Given the description of an element on the screen output the (x, y) to click on. 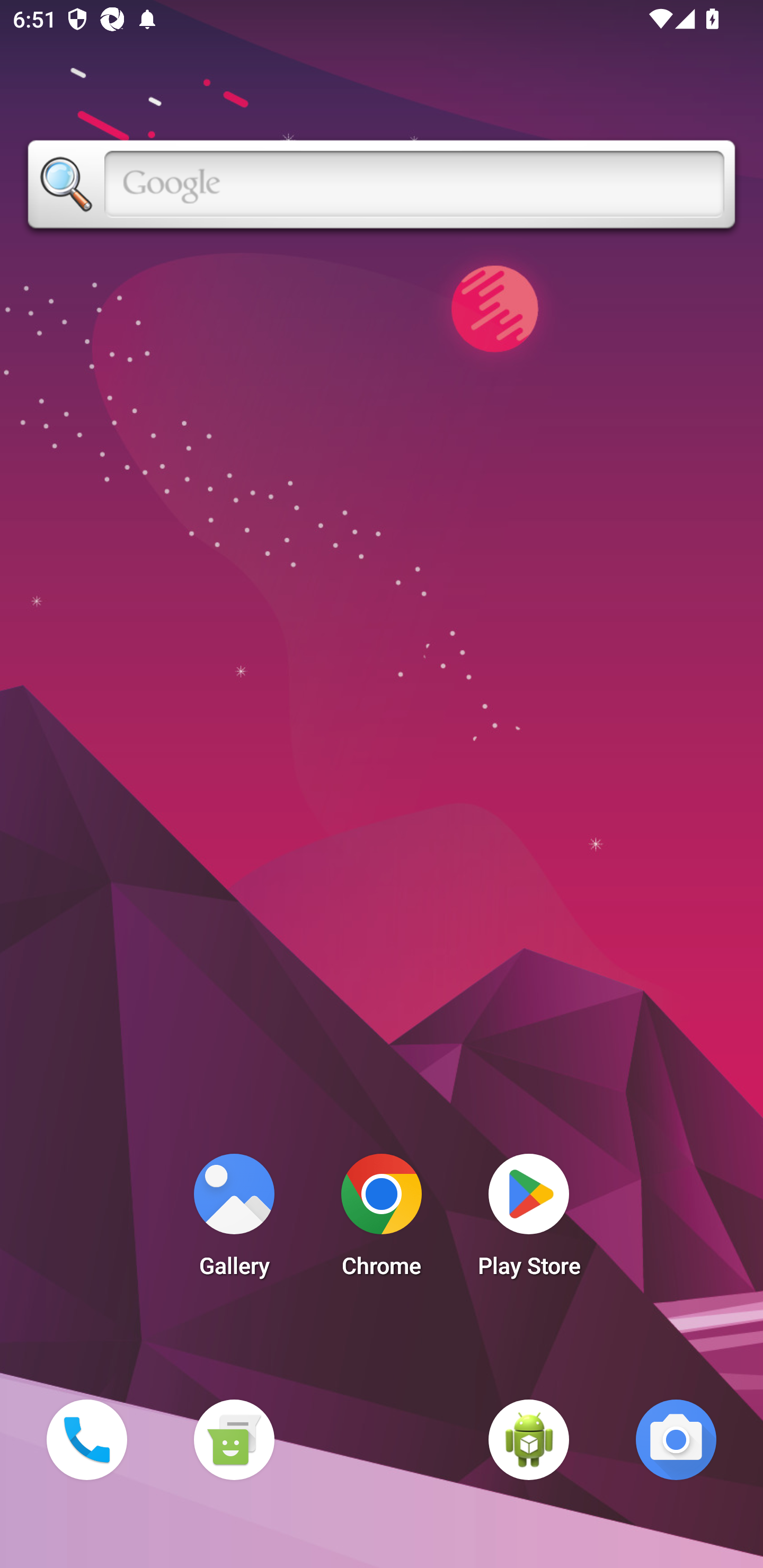
Gallery (233, 1220)
Chrome (381, 1220)
Play Store (528, 1220)
Phone (86, 1439)
Messaging (233, 1439)
WebView Browser Tester (528, 1439)
Camera (676, 1439)
